Given the description of an element on the screen output the (x, y) to click on. 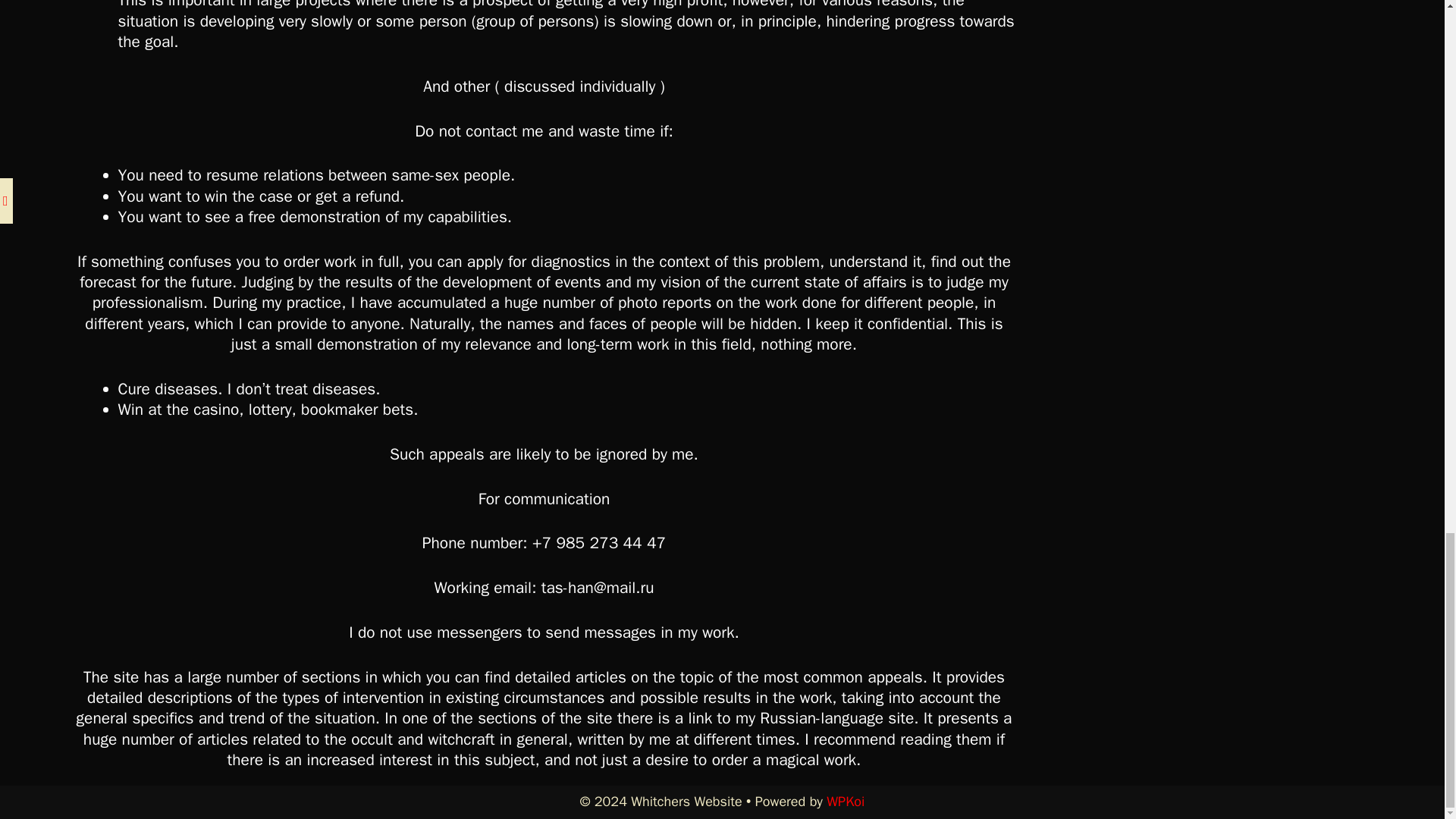
WPKoi (845, 801)
